Given the description of an element on the screen output the (x, y) to click on. 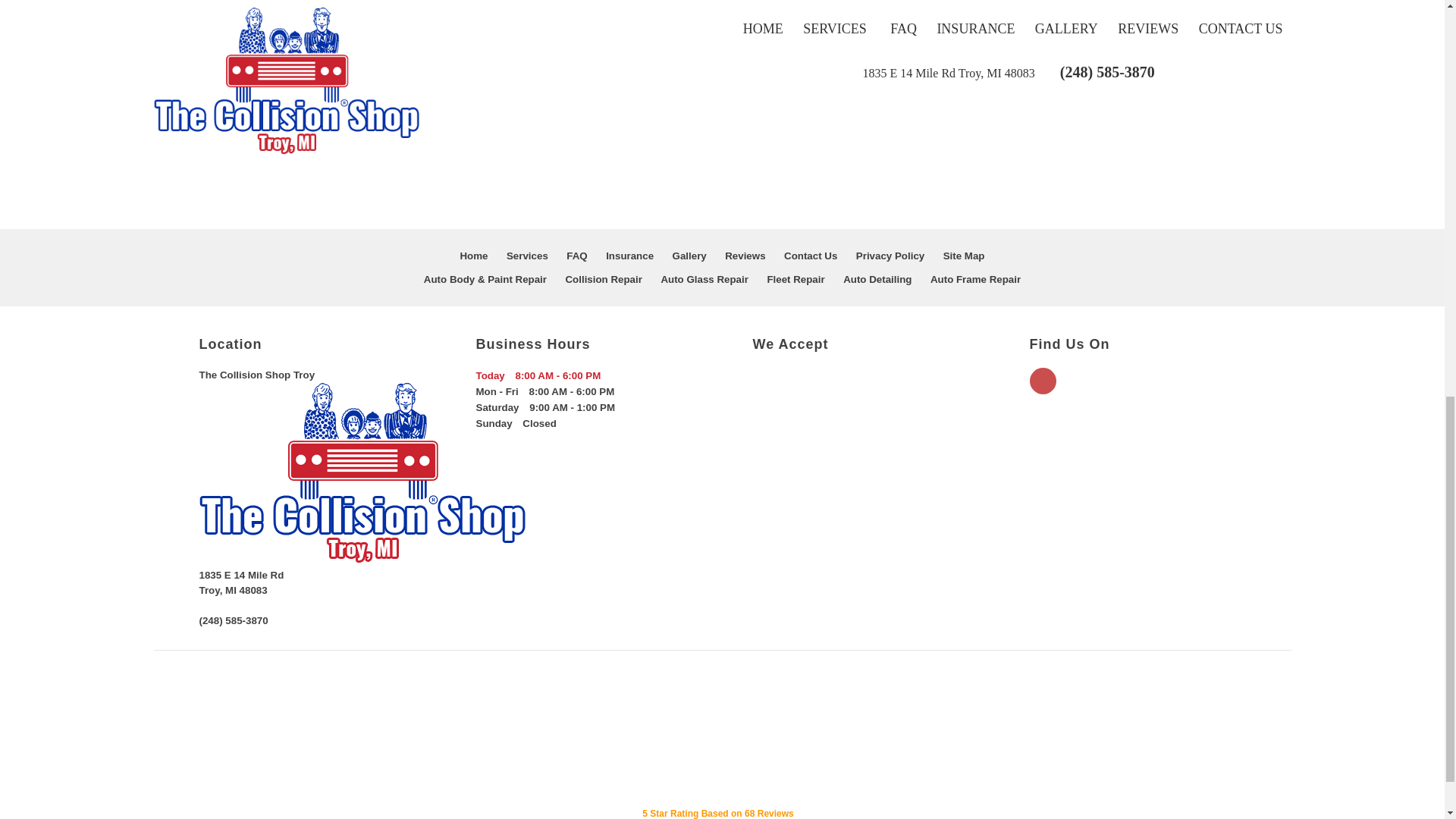
Services (527, 255)
FAQ (576, 255)
Site Map (964, 255)
Home (473, 255)
Reviews (745, 255)
Collision Repair (603, 279)
Our Services (527, 255)
Insurance (629, 255)
Gallery (689, 255)
Contact Us (810, 255)
Privacy Policy (890, 255)
Auto Glass Repair (704, 279)
